Given the description of an element on the screen output the (x, y) to click on. 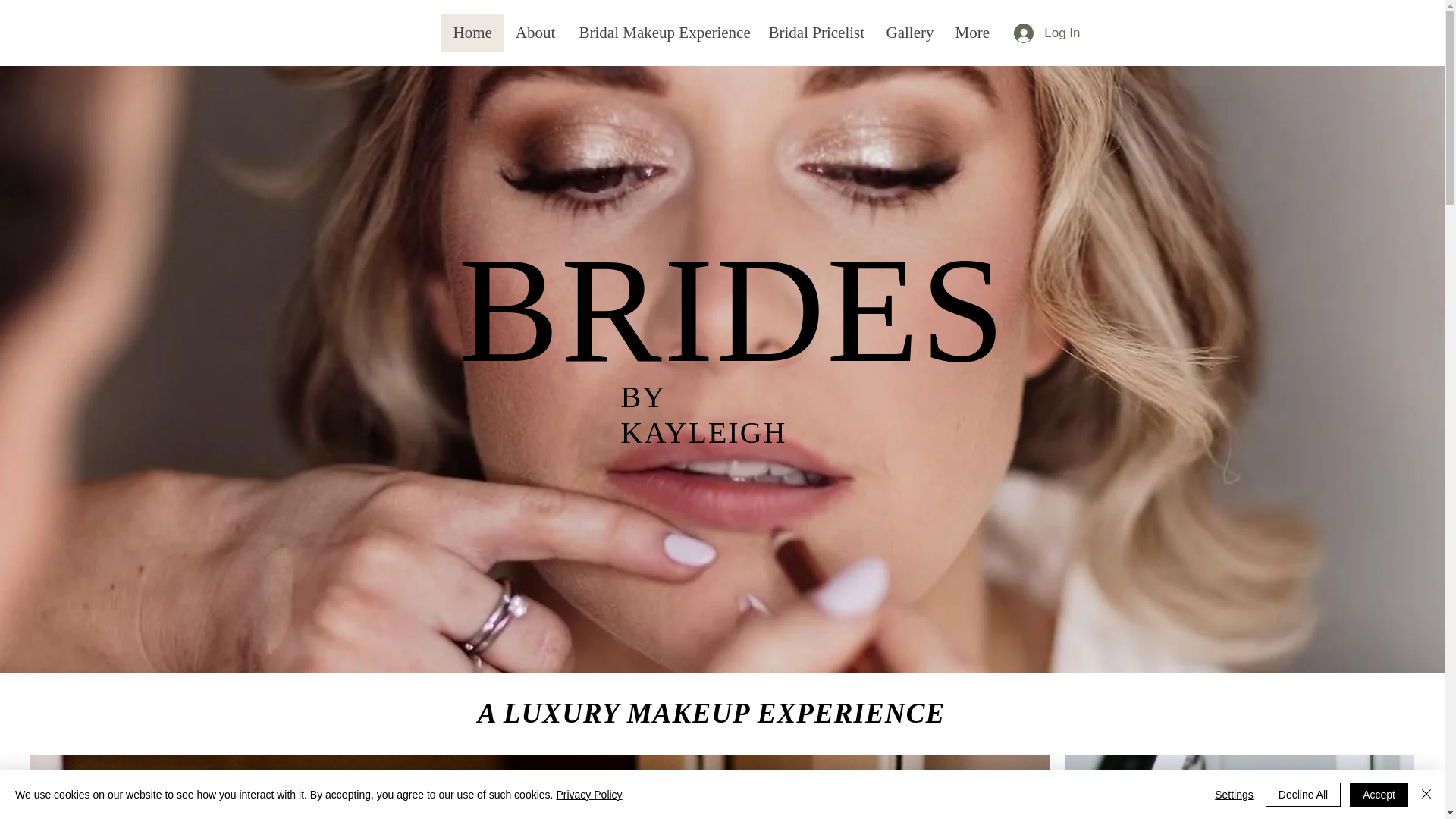
Home (472, 32)
Bridal Makeup Experience (662, 32)
Gallery (907, 32)
Accept (1378, 794)
Decline All (1302, 794)
Log In (1046, 32)
Privacy Policy (588, 794)
Bridal Pricelist (816, 32)
About (535, 32)
